Given the description of an element on the screen output the (x, y) to click on. 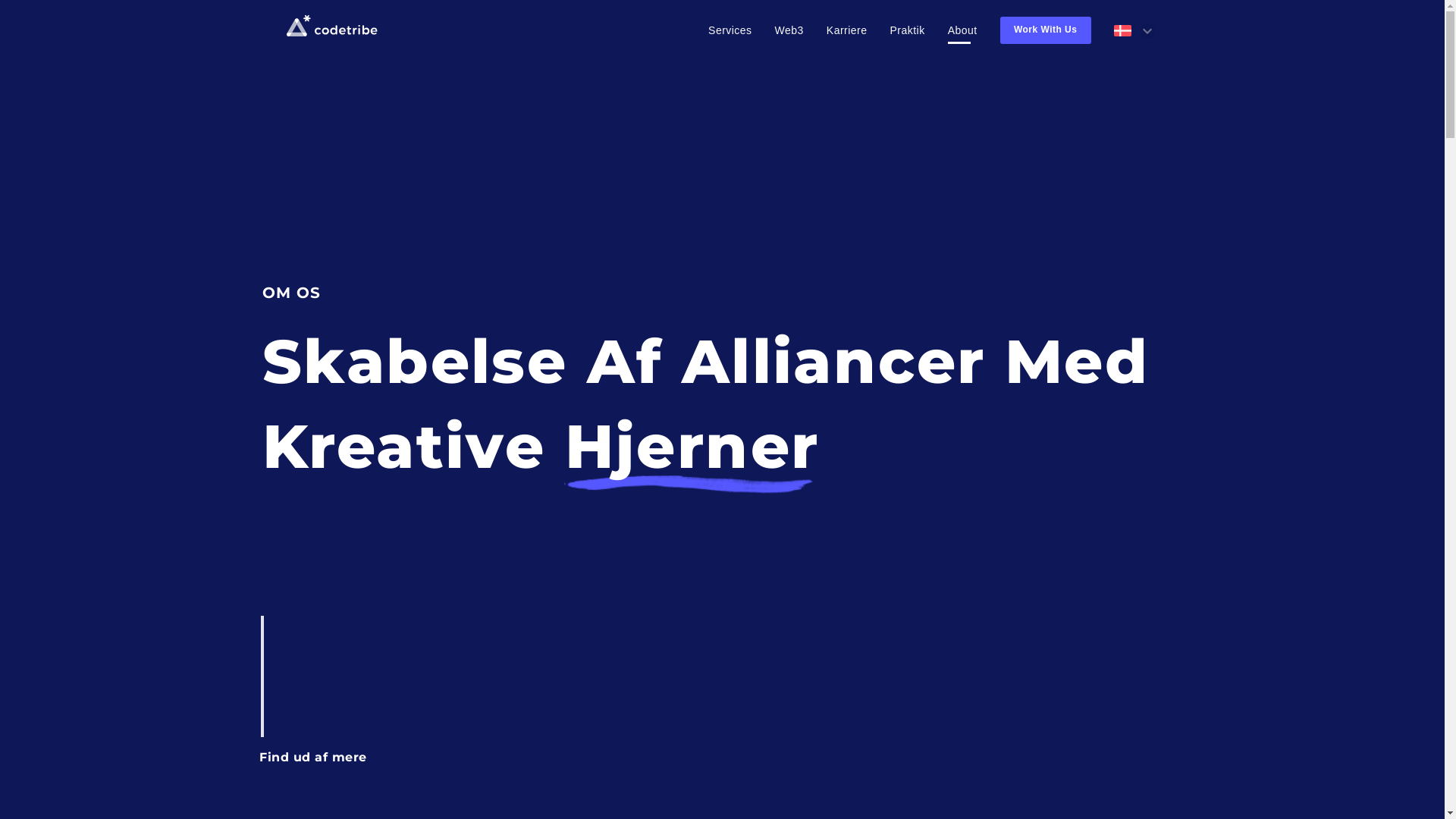
Karriere Element type: text (846, 29)
Services Element type: text (730, 29)
About Element type: text (962, 29)
Work With Us Element type: text (1045, 29)
Praktik Element type: text (907, 29)
Web3 Element type: text (789, 29)
